Given the description of an element on the screen output the (x, y) to click on. 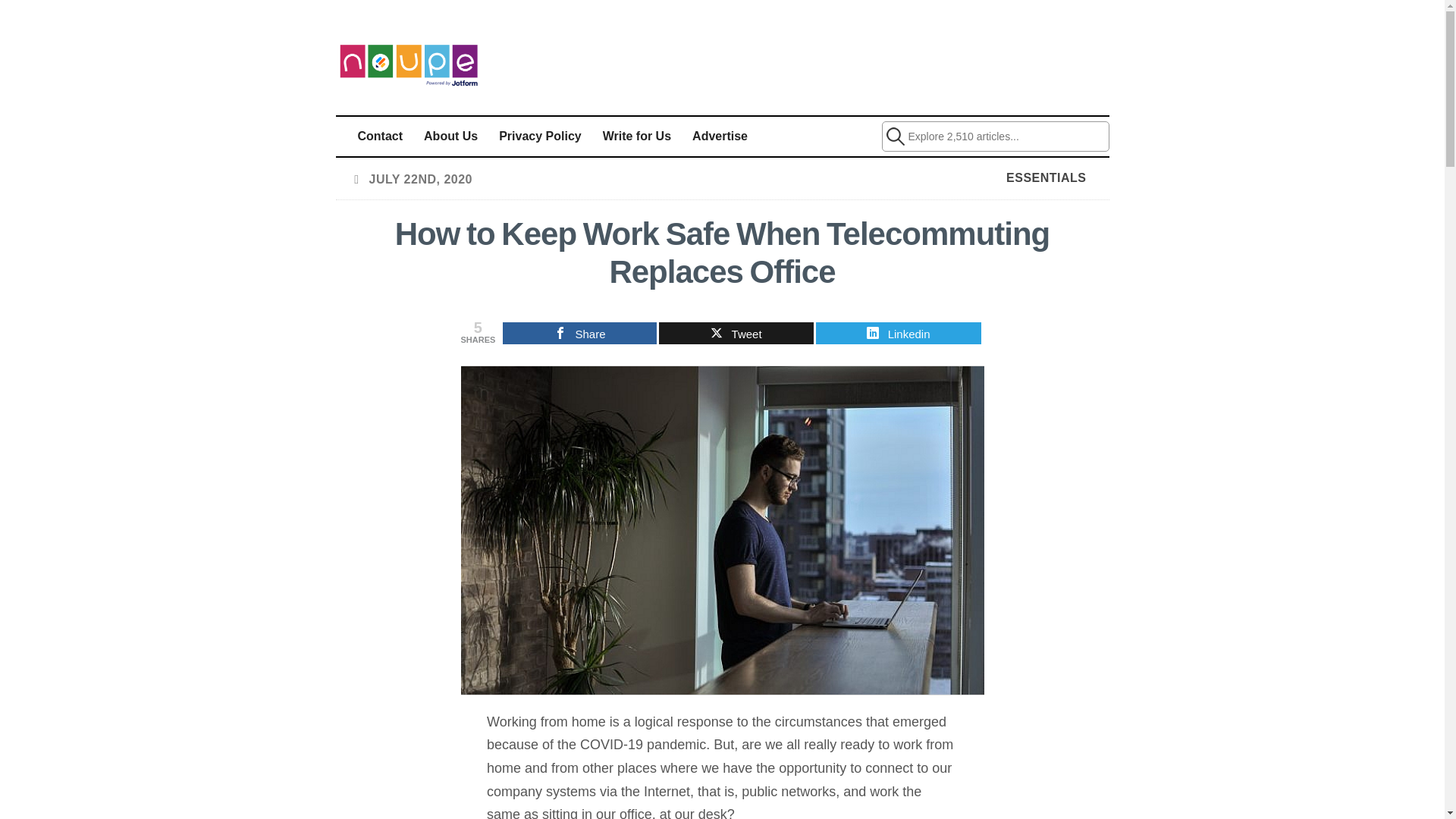
Share (579, 332)
Advertise (719, 136)
Contact (380, 136)
About Us (450, 136)
Write for Us (636, 136)
Linkedin (898, 332)
Privacy Policy (539, 136)
Explore 2,510 articles... (994, 136)
ESSENTIALS (1046, 177)
Tweet (735, 332)
